Given the description of an element on the screen output the (x, y) to click on. 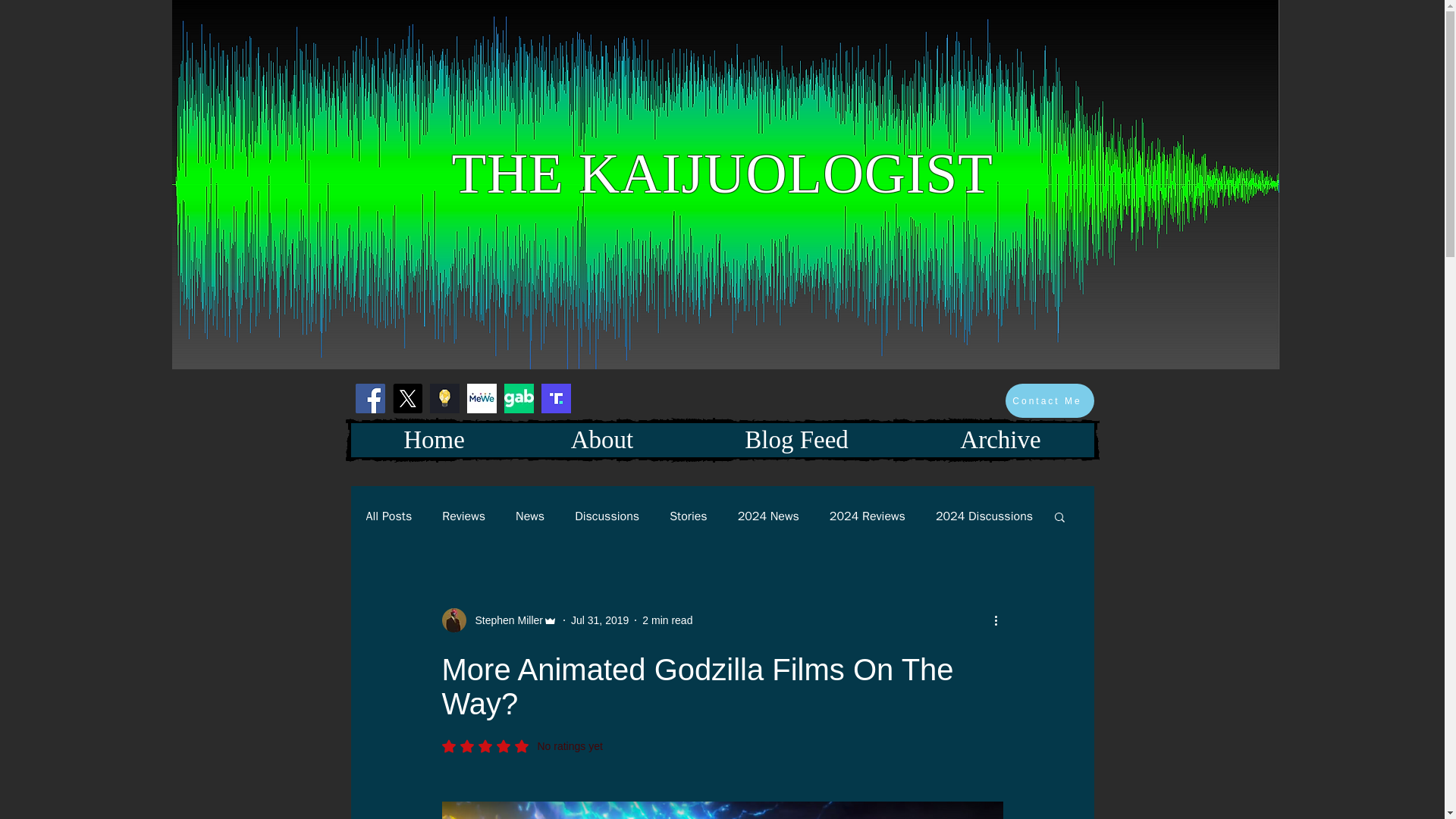
Stories (688, 515)
THE KAIJUOLOGIST (721, 172)
Jul 31, 2019 (599, 620)
Contact Me (1050, 400)
Discussions (607, 515)
2 min read (667, 620)
News (529, 515)
2024 Discussions (984, 515)
2024 Reviews (867, 515)
All Posts (388, 515)
Stephen Miller (504, 620)
2024 News (768, 515)
Reviews (463, 515)
